Given the description of an element on the screen output the (x, y) to click on. 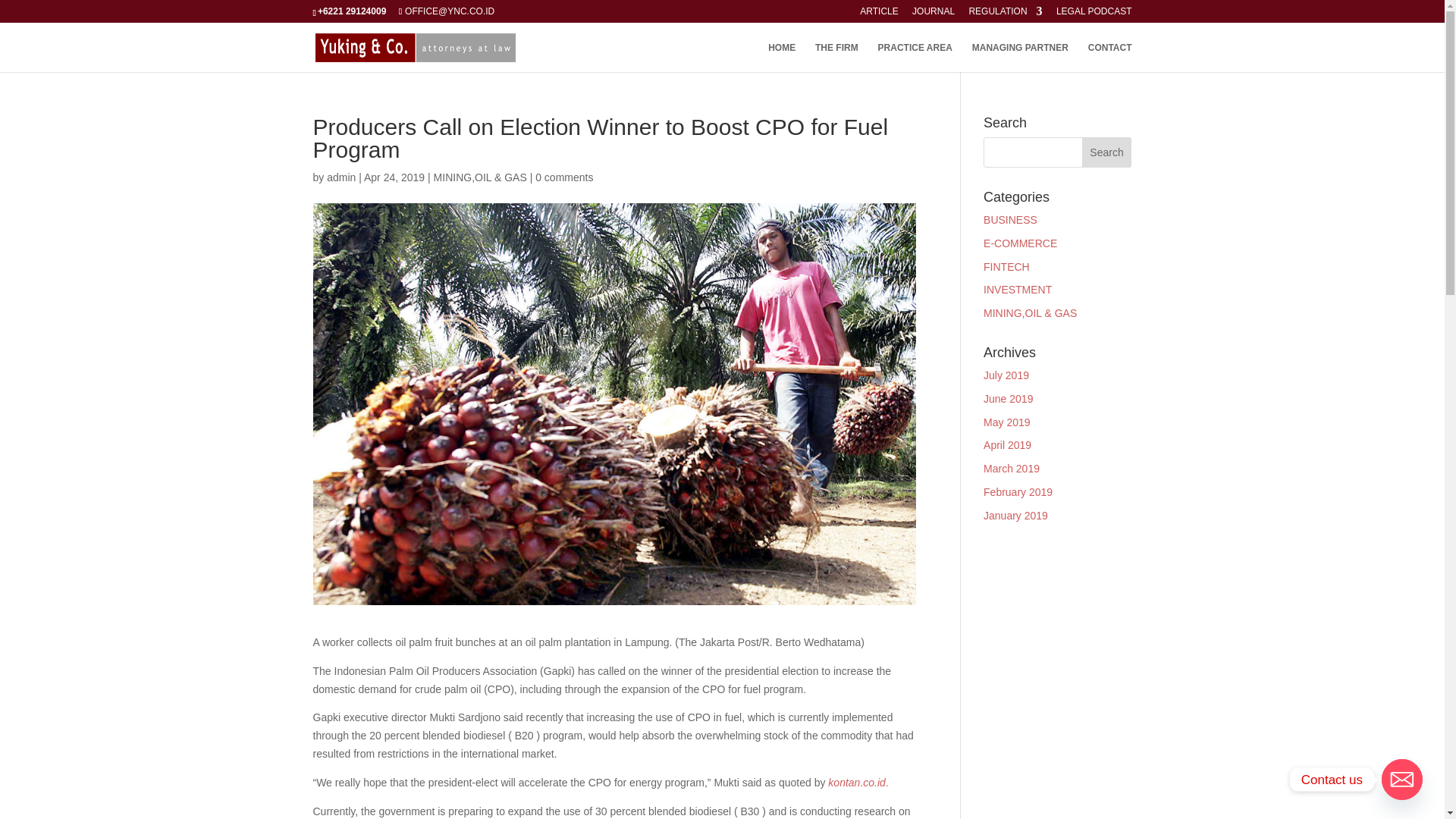
ARTICLE (879, 14)
LEGAL PODCAST (1094, 14)
Search (1106, 152)
REGULATION (1005, 14)
Search (1106, 152)
THE FIRM (837, 57)
HOME (781, 57)
kontan.co.id. (858, 782)
admin (340, 177)
PRACTICE AREA (914, 57)
MANAGING PARTNER (1020, 57)
0 comments (563, 177)
JOURNAL (933, 14)
Posts by admin (340, 177)
CONTACT (1109, 57)
